Given the description of an element on the screen output the (x, y) to click on. 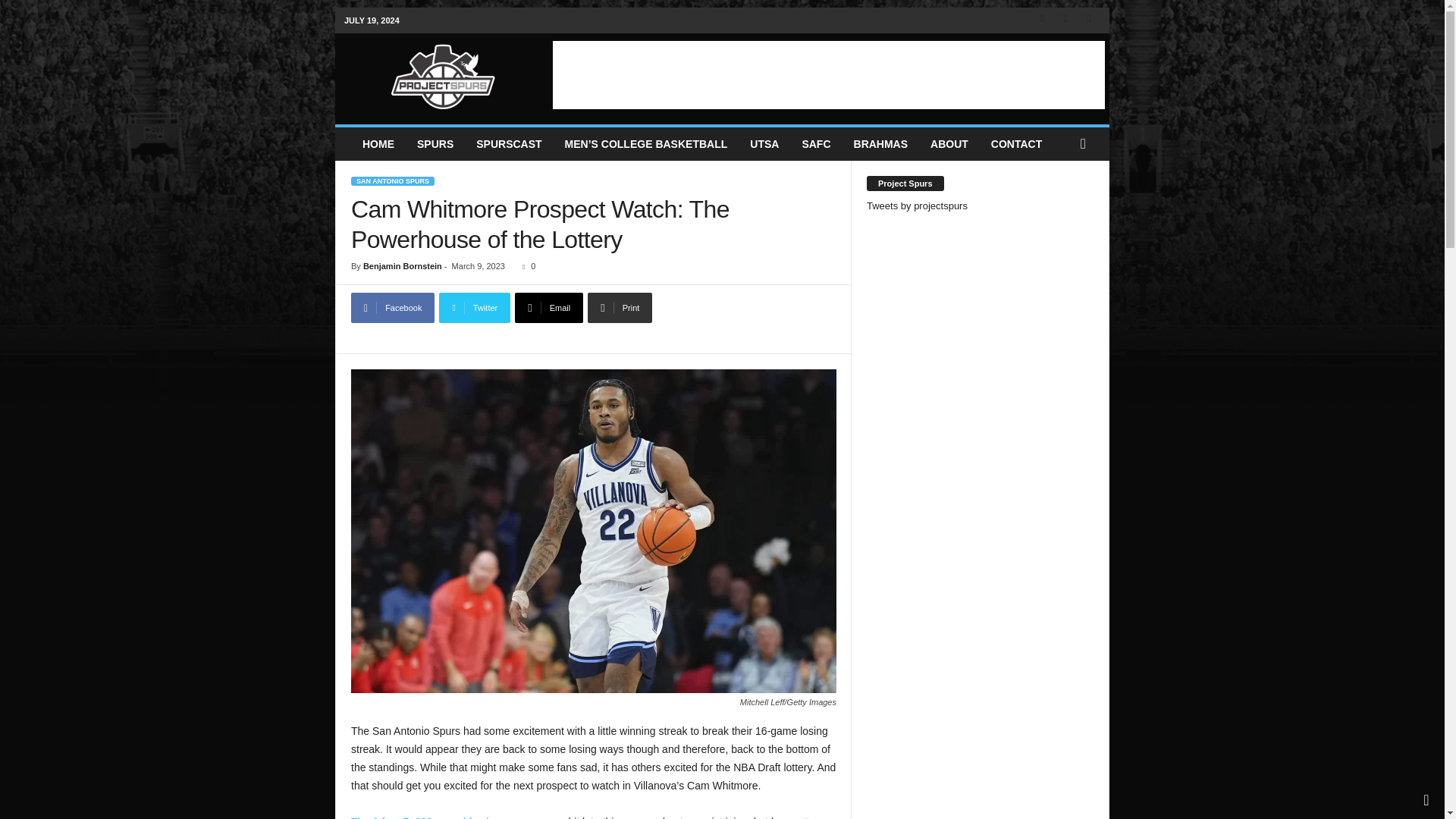
SAFC (815, 143)
CONTACT (1015, 143)
Email (549, 307)
UTSA (764, 143)
Facebook (391, 307)
Email (549, 307)
Print (620, 307)
Benjamin Bornstein (402, 266)
BRAHMAS (881, 143)
SPURSCAST (508, 143)
Print (620, 307)
ABOUT (948, 143)
Twitter (475, 307)
The 6-foot-7, 232-pound freshman (431, 817)
